Given the description of an element on the screen output the (x, y) to click on. 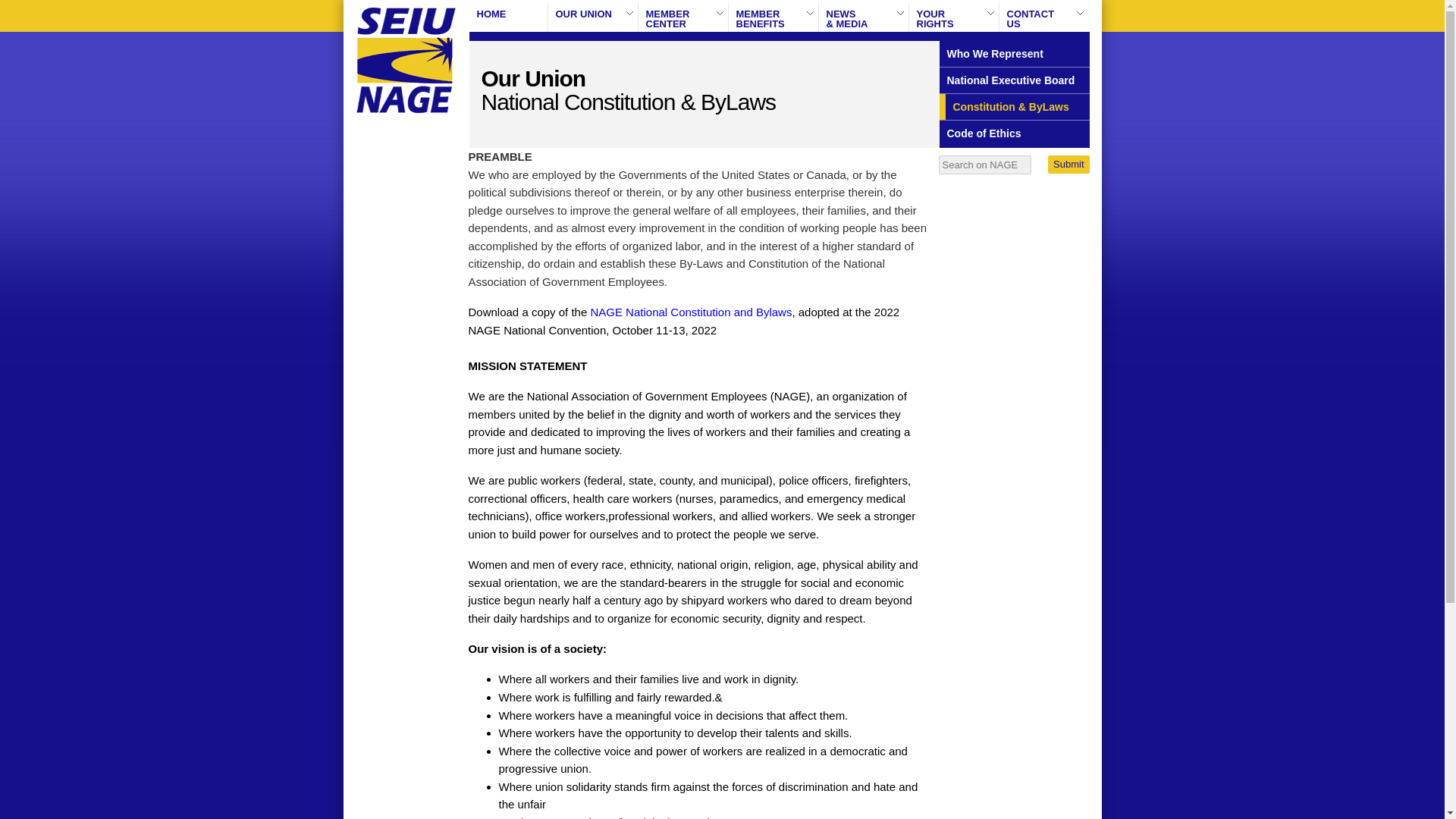
Submit (1068, 164)
HOME (507, 15)
National Executive Board (773, 15)
Submit (1013, 80)
OUR UNION (1068, 164)
Code of Ethics (953, 15)
Submit (592, 15)
Who We Represent (1013, 133)
NAGE National Constitution and Bylaws (1068, 164)
